Given the description of an element on the screen output the (x, y) to click on. 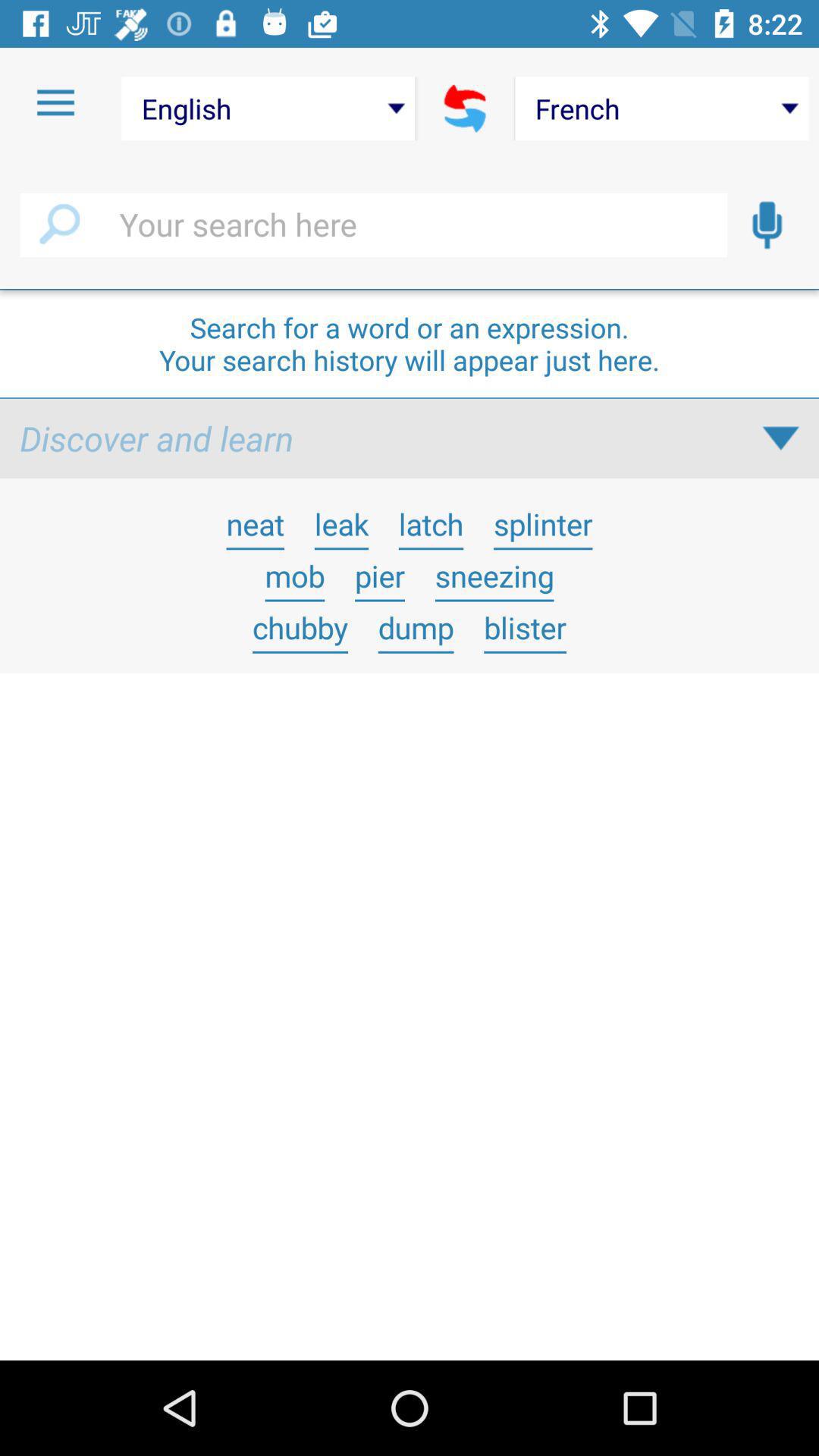
swap languages (465, 108)
